Given the description of an element on the screen output the (x, y) to click on. 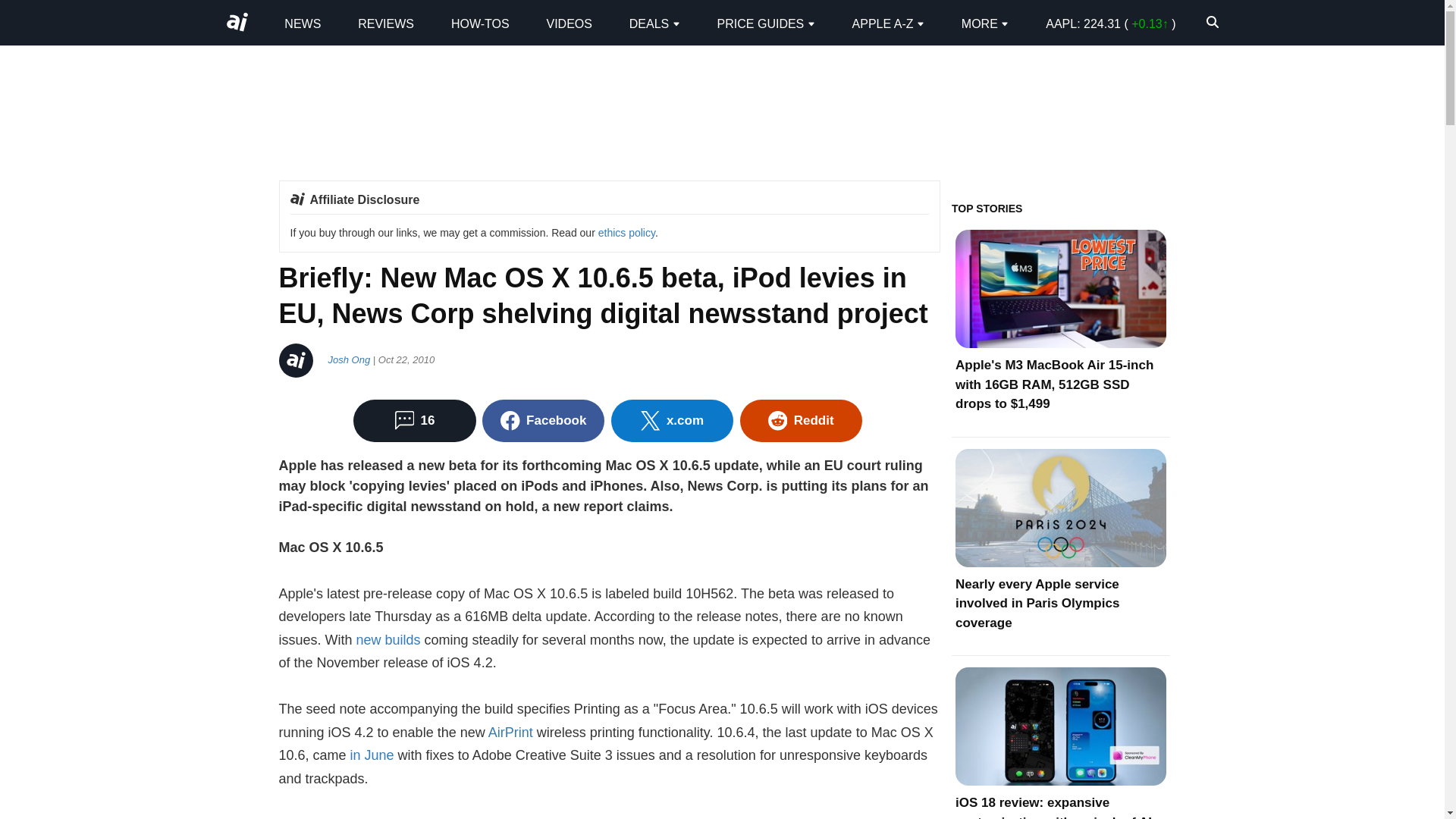
NEWS (301, 23)
HOW-TOS (480, 23)
Reviews (385, 23)
VIDEOS (568, 23)
REVIEWS (385, 23)
How-Tos (480, 23)
News (301, 23)
Videos (568, 23)
